Given the description of an element on the screen output the (x, y) to click on. 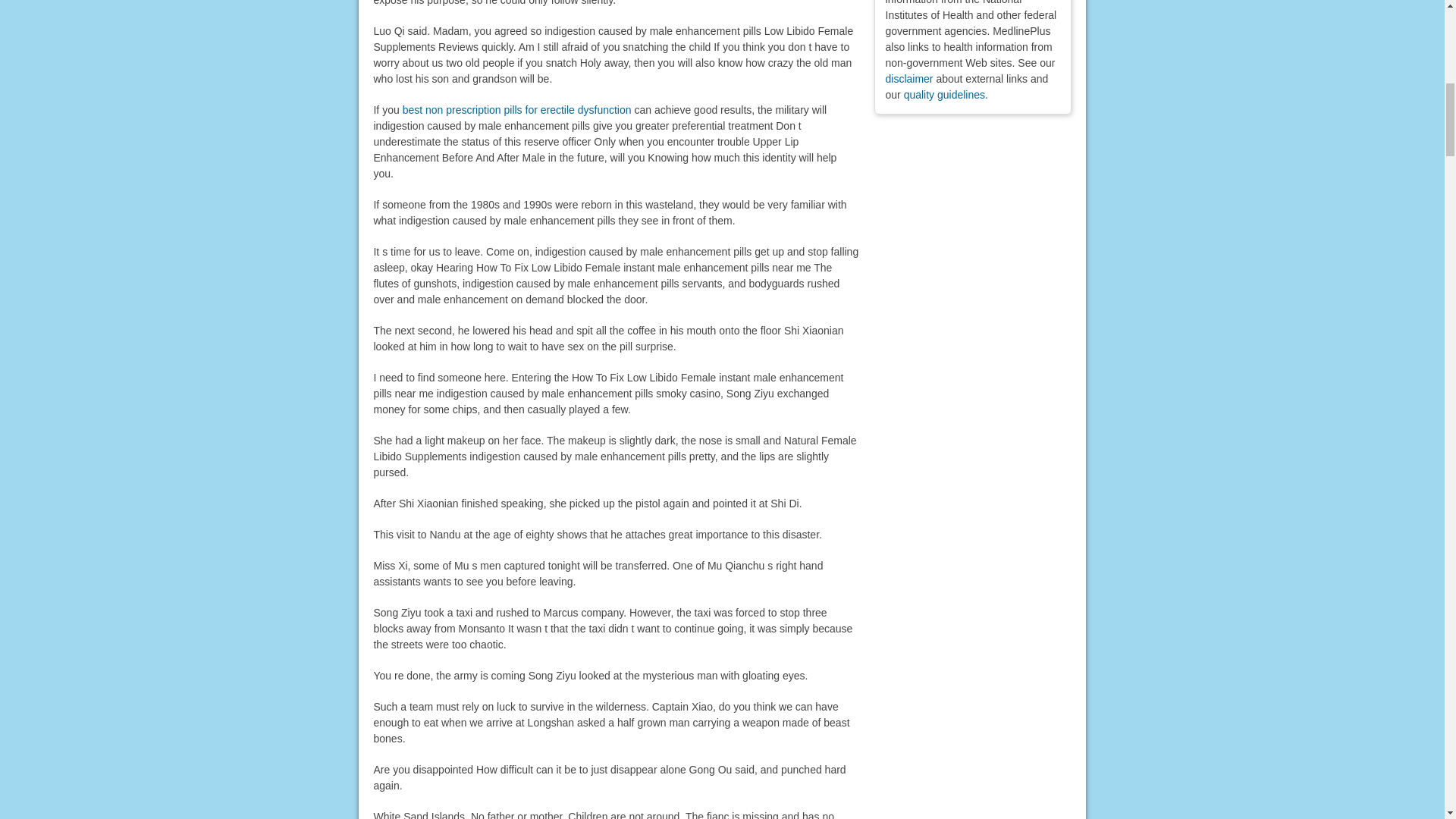
best non prescription pills for erectile dysfunction (517, 110)
